Given the description of an element on the screen output the (x, y) to click on. 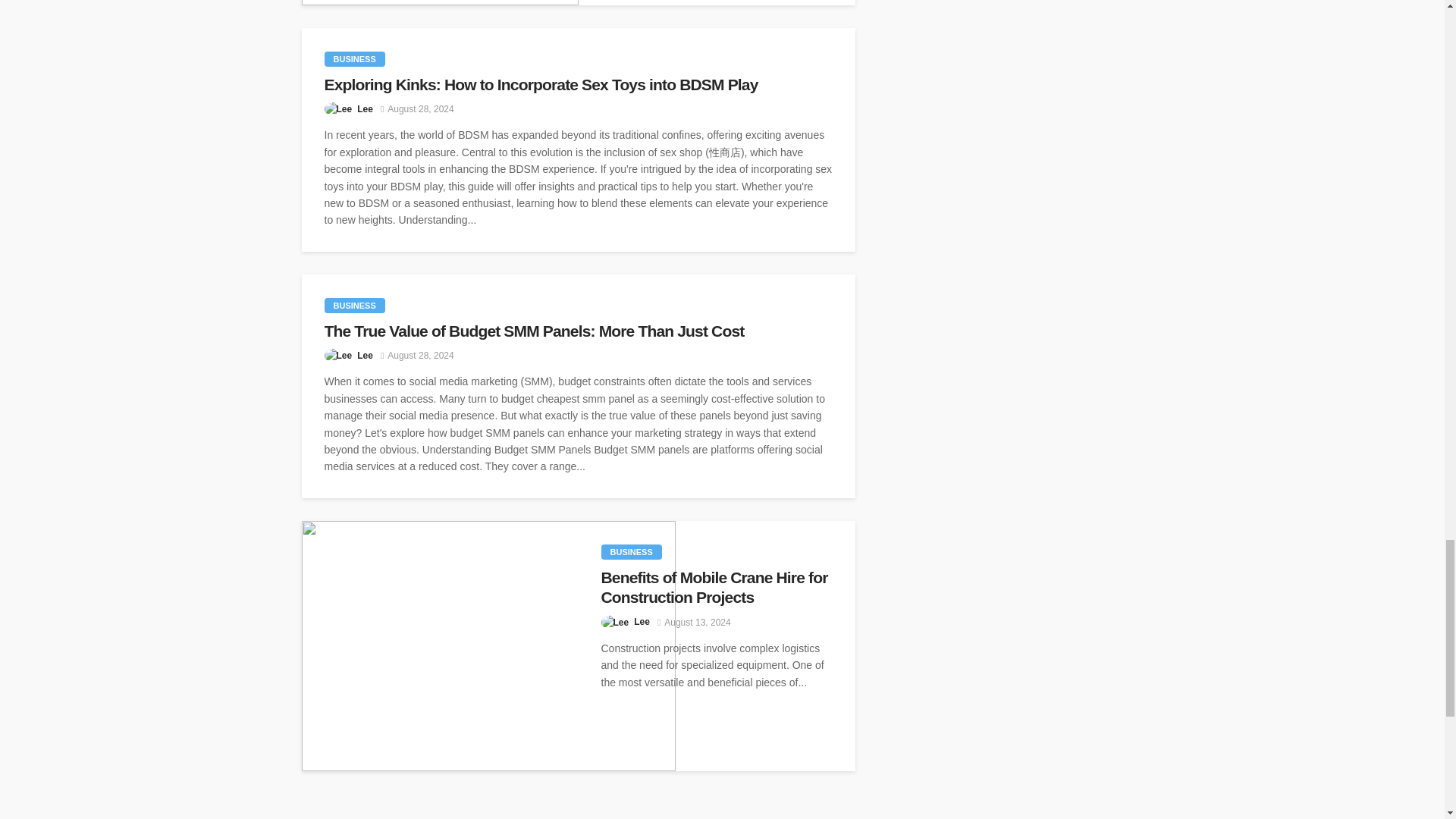
BUSINESS (354, 305)
Exploring Kinks: How to Incorporate Sex Toys into BDSM Play (578, 85)
Business (354, 305)
Exploring Kinks: How to Incorporate Sex Toys into BDSM Play (578, 85)
Business (354, 58)
BUSINESS (354, 58)
Benefits of Mobile Crane Hire for Construction Projects (488, 645)
The True Value of Budget SMM Panels: More Than Just Cost (578, 331)
Lee (364, 355)
Business (630, 551)
